Given the description of an element on the screen output the (x, y) to click on. 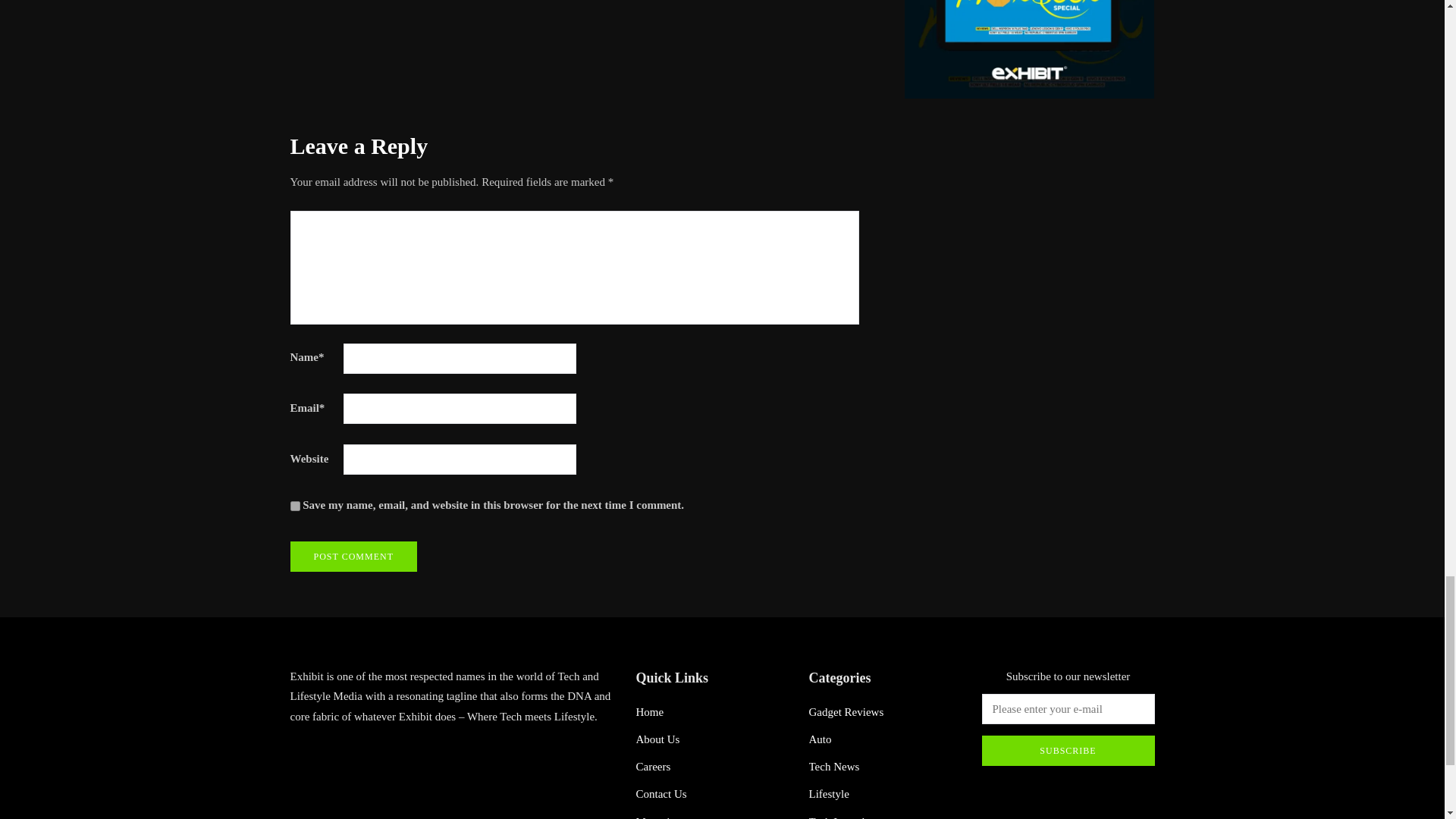
Post comment (352, 556)
yes (294, 506)
